Given the description of an element on the screen output the (x, y) to click on. 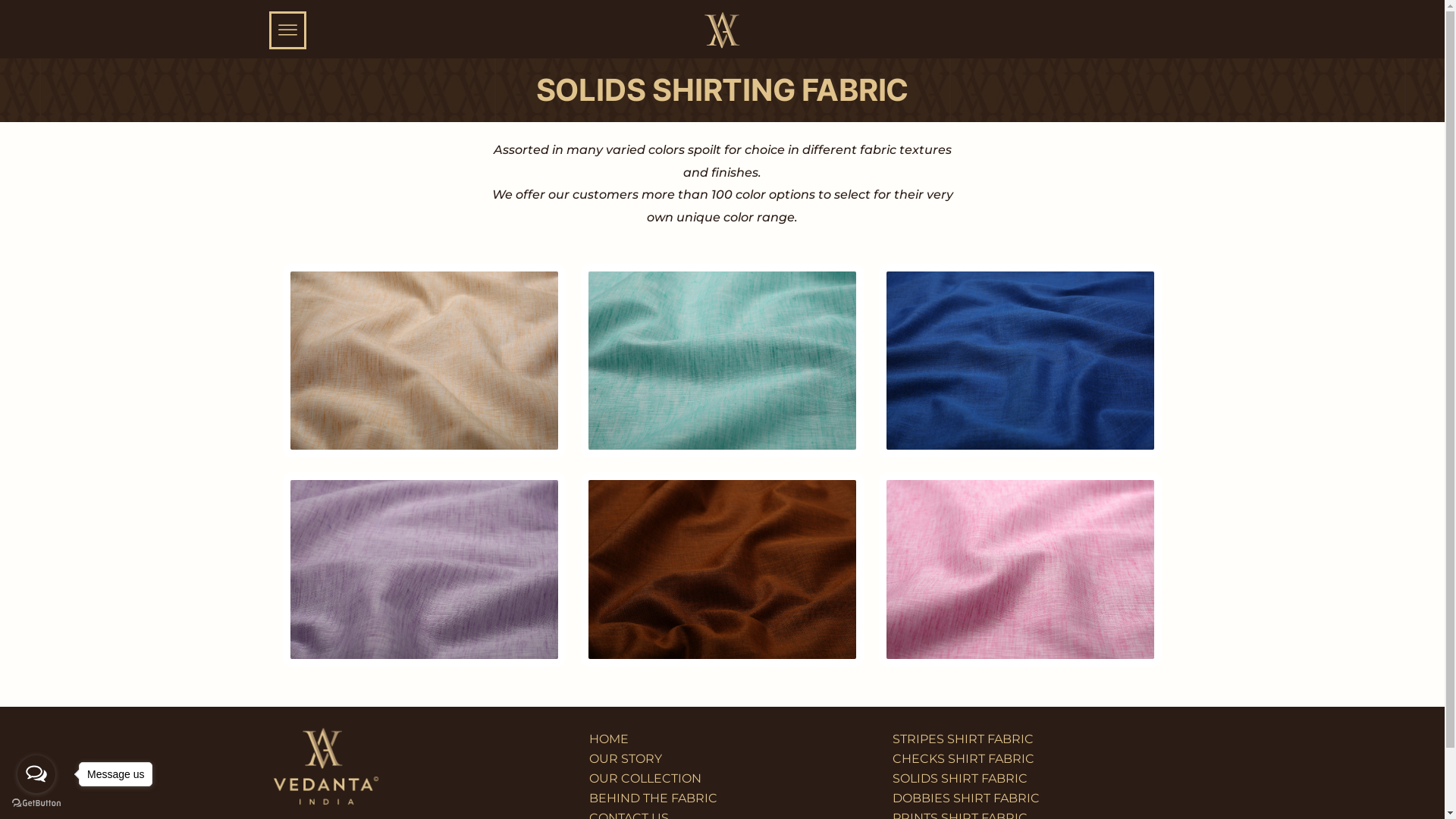
SOLIDS SHIRT FABRIC Element type: text (1025, 778)
HOME Element type: text (721, 739)
DOBBIES SHIRT FABRIC Element type: text (1025, 798)
OUR STORY Element type: text (721, 758)
Vedanta (2) Element type: hover (721, 30)
STRIPES SHIRT FABRIC Element type: text (1025, 739)
OUR COLLECTION Element type: text (721, 778)
CHECKS SHIRT FABRIC Element type: text (1025, 758)
BEHIND THE FABRIC Element type: text (721, 798)
